Given the description of an element on the screen output the (x, y) to click on. 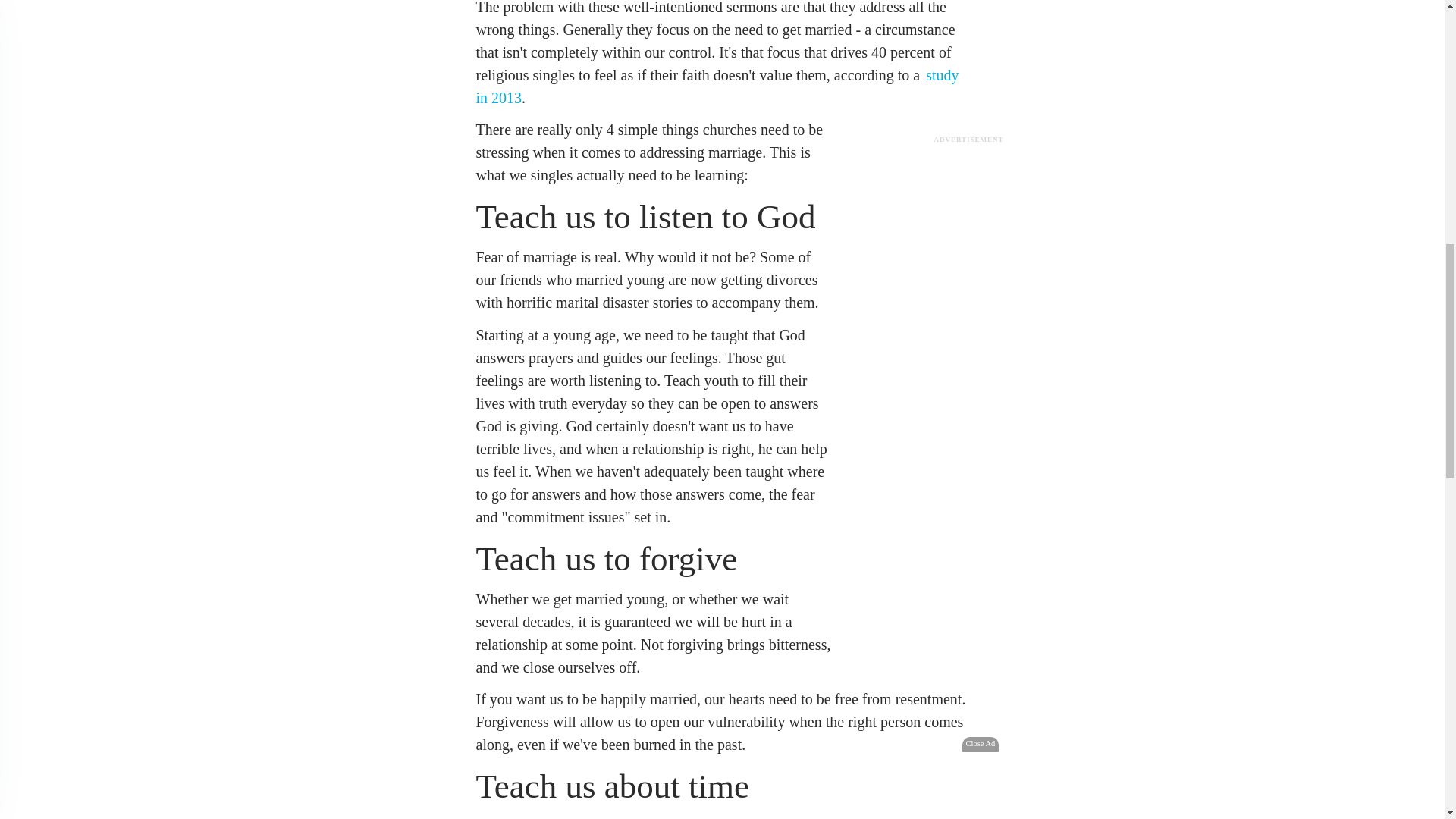
study in 2013 (717, 86)
